Given the description of an element on the screen output the (x, y) to click on. 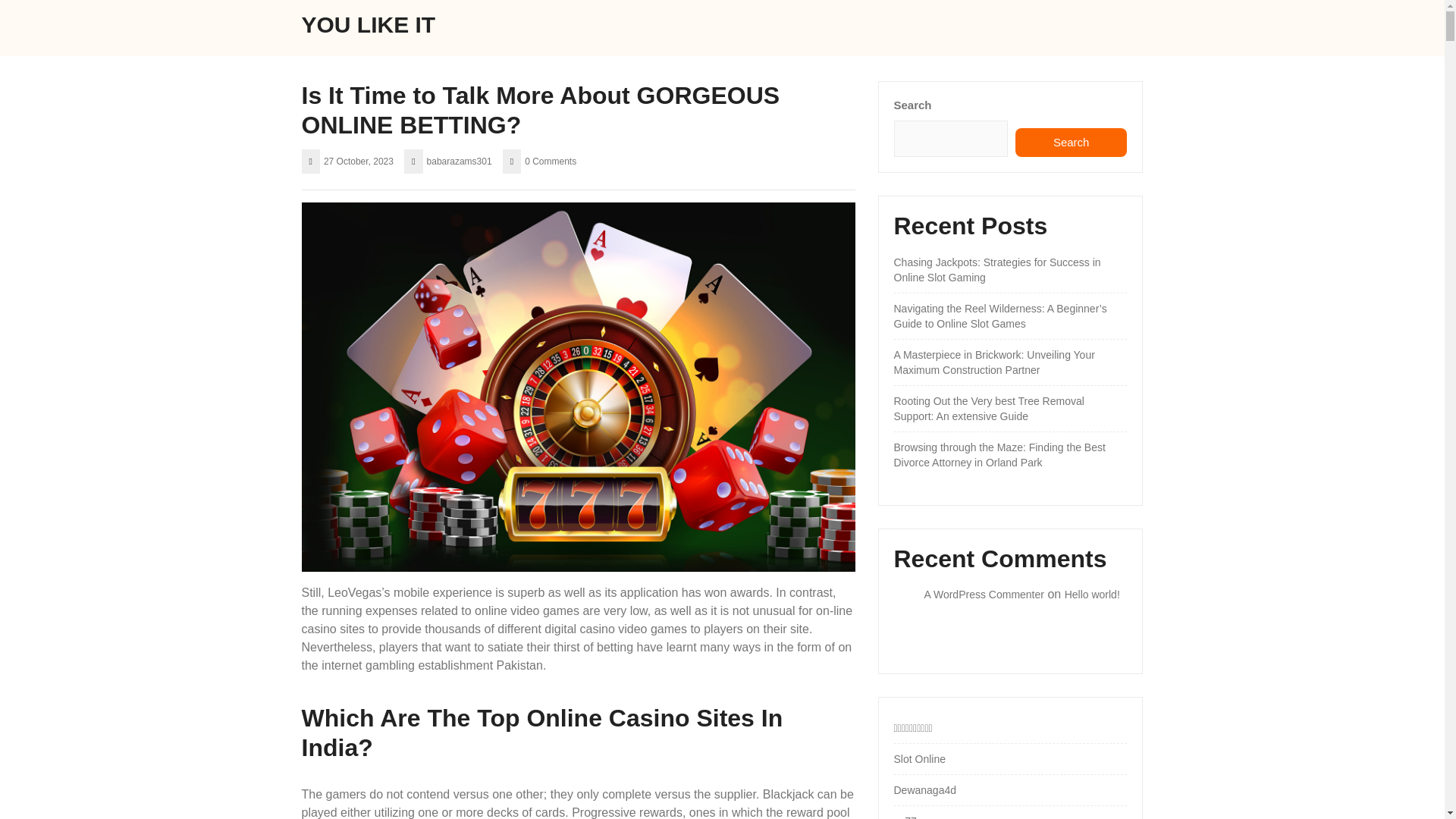
Hello world! (1091, 594)
A WordPress Commenter (983, 594)
YOU LIKE IT (368, 24)
sg77 (904, 816)
Dewanaga4d (924, 789)
Slot Online (918, 758)
Search (1070, 142)
